Given the description of an element on the screen output the (x, y) to click on. 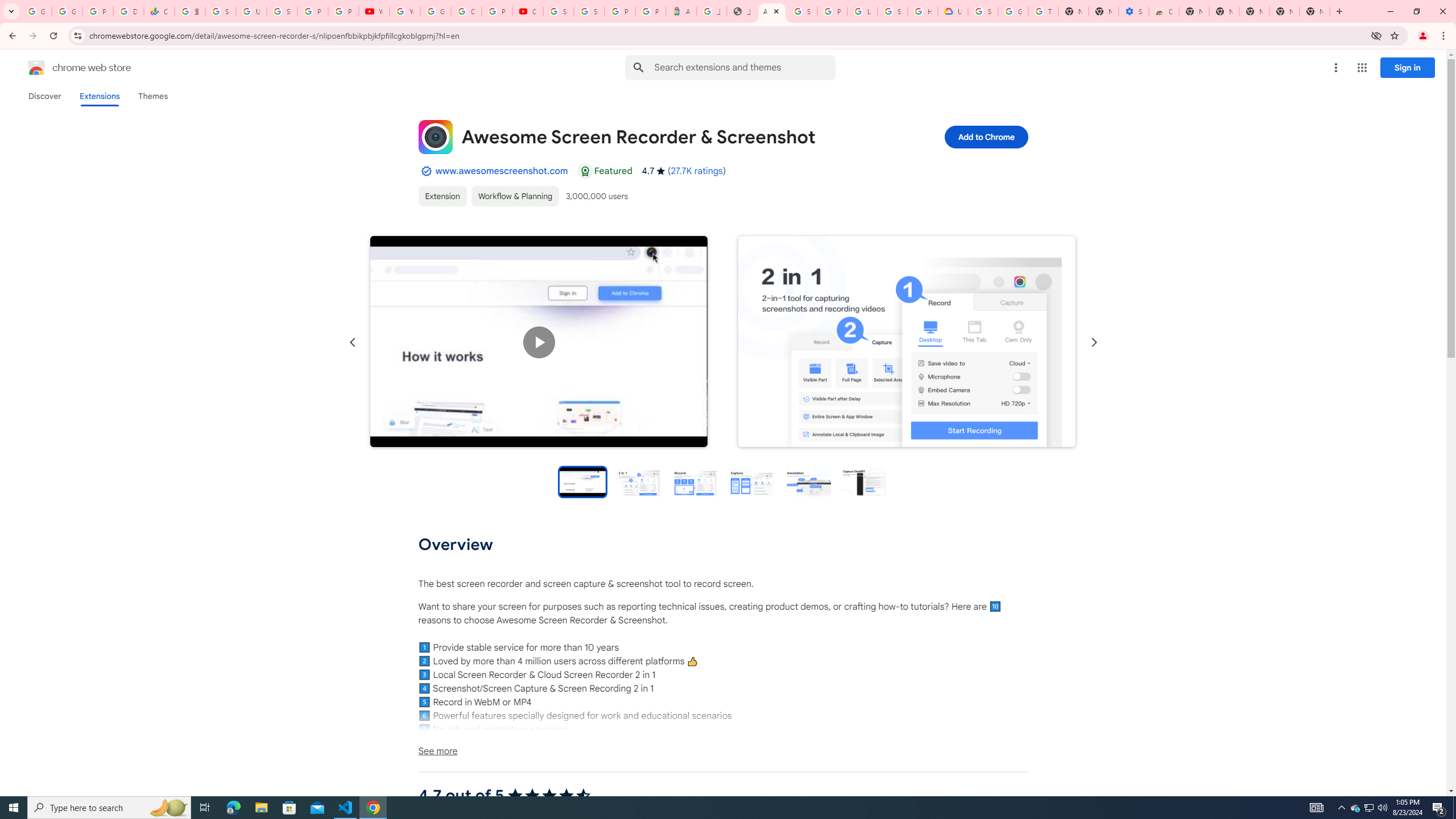
Sign in - Google Accounts (892, 11)
By Established Publisher Badge (425, 170)
Item media 1 video (538, 342)
Google Account Help (434, 11)
Item logo image for Awesome Screen Recorder & Screenshot (434, 136)
